Given the description of an element on the screen output the (x, y) to click on. 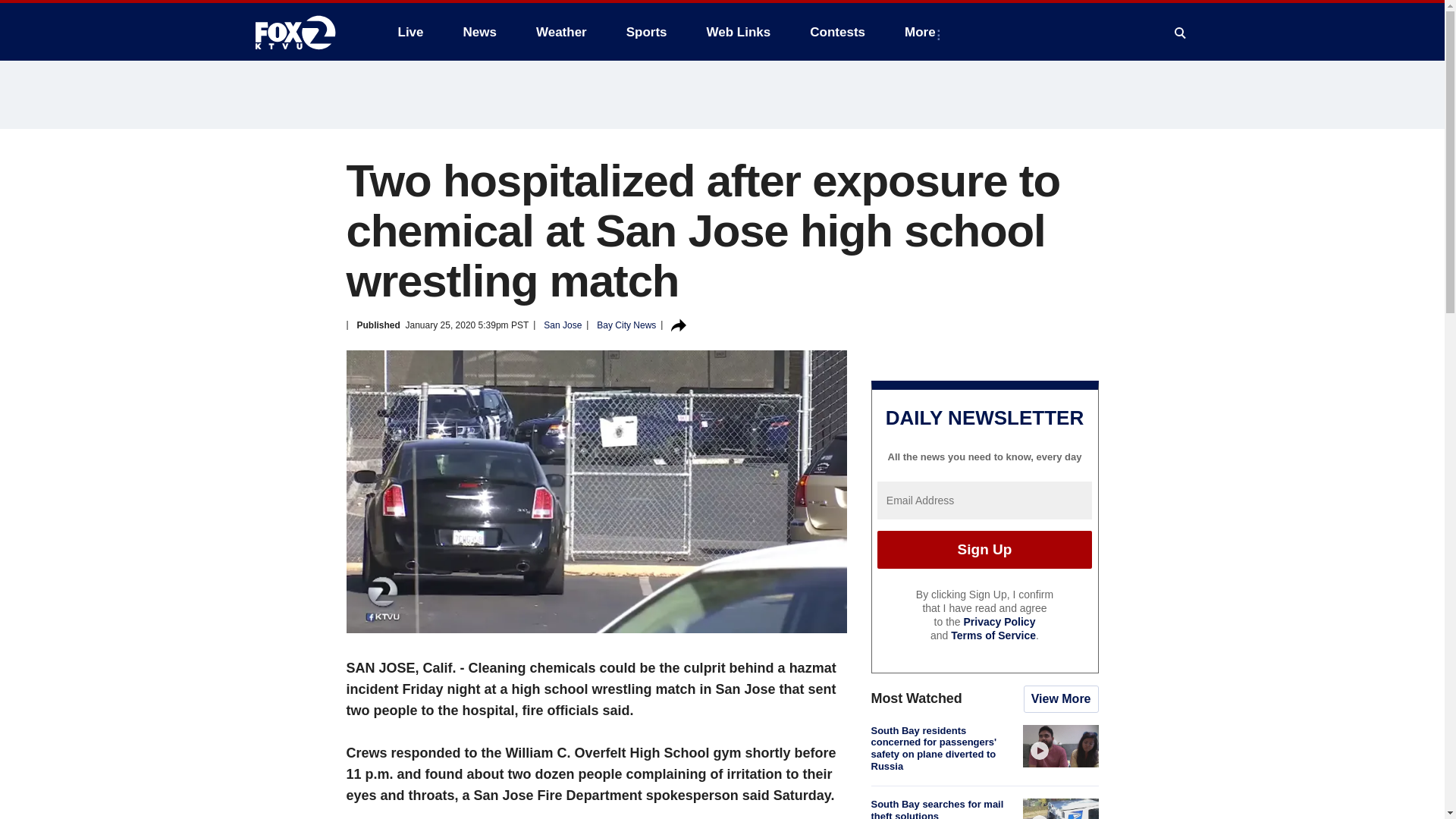
Live (410, 32)
Sign Up (984, 549)
Weather (561, 32)
Web Links (738, 32)
Contests (837, 32)
Sports (646, 32)
News (479, 32)
More (922, 32)
